Given the description of an element on the screen output the (x, y) to click on. 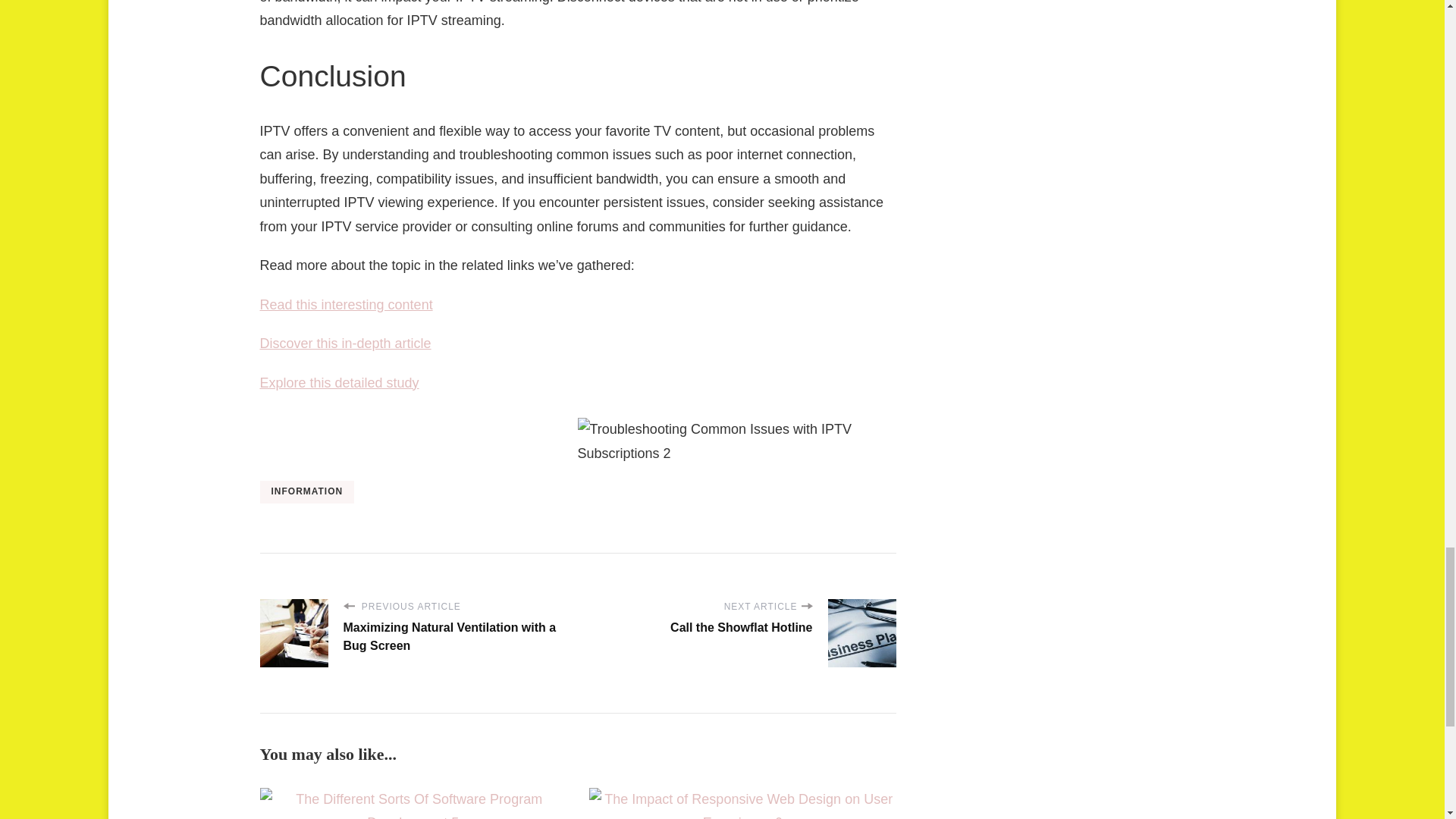
Explore this detailed study (339, 382)
Read this interesting content (345, 304)
INFORMATION (306, 491)
Discover this in-depth article (344, 343)
